Given the description of an element on the screen output the (x, y) to click on. 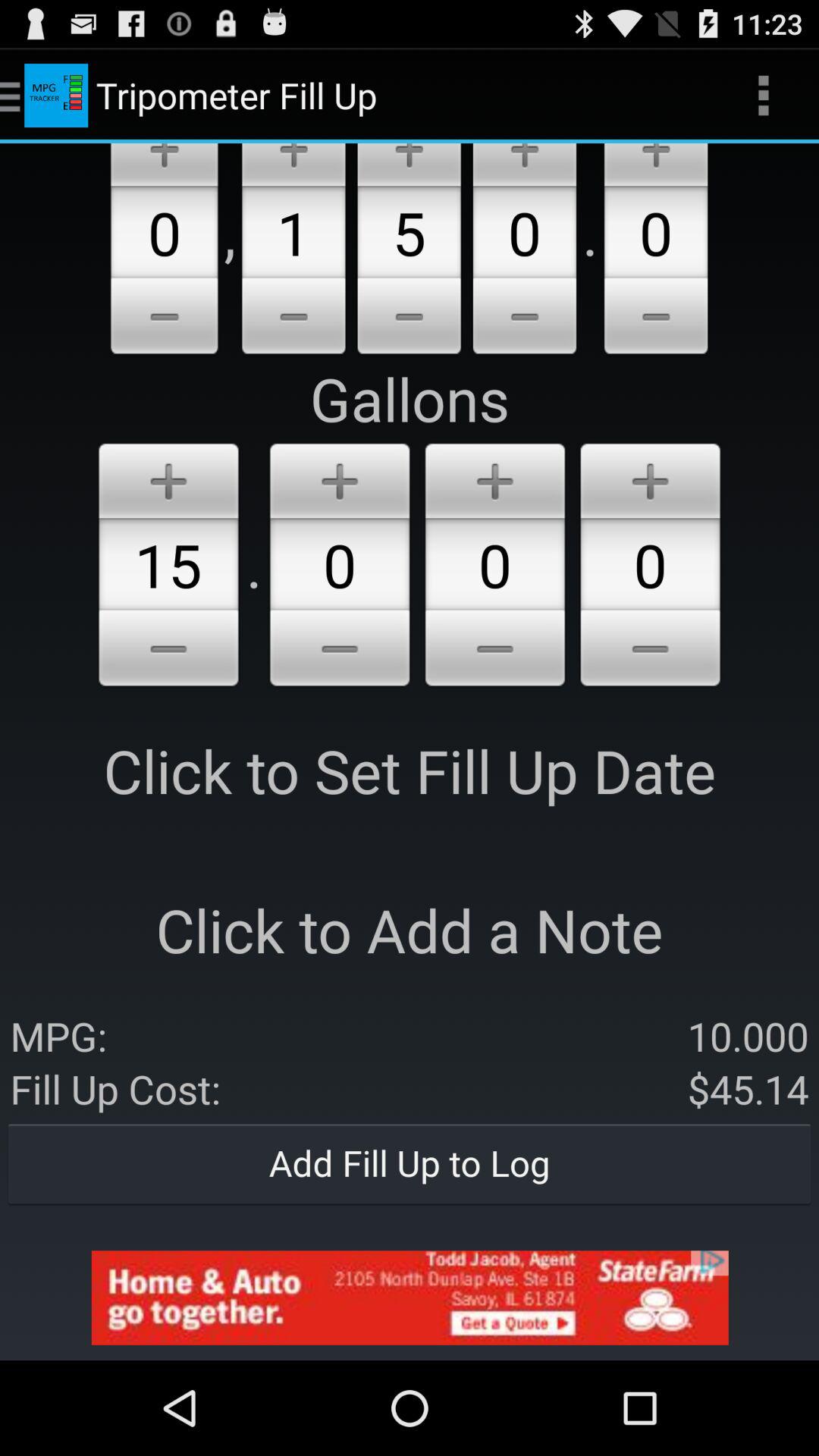
increase count (293, 164)
